Given the description of an element on the screen output the (x, y) to click on. 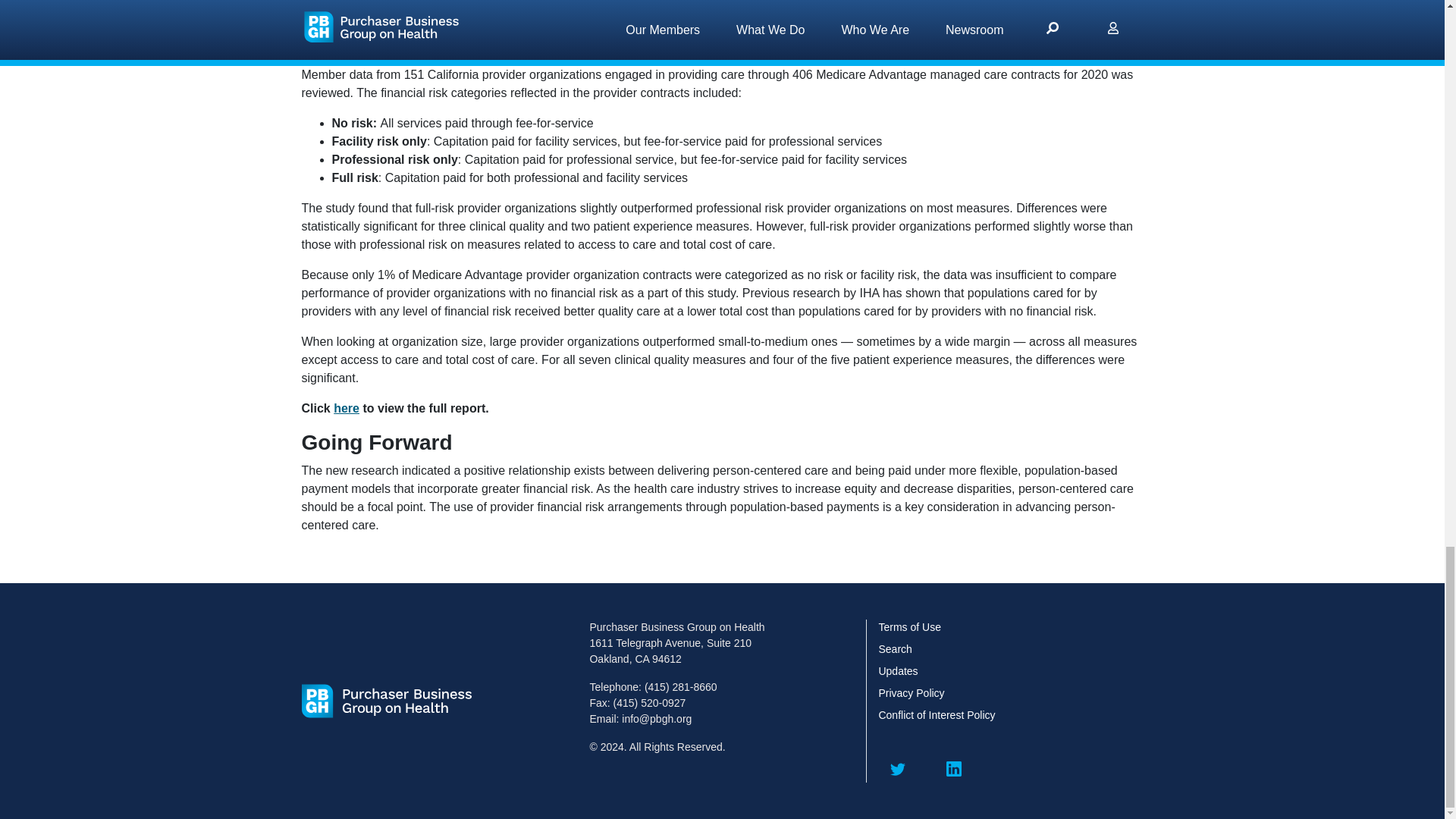
Follow on Linkedin (954, 771)
Follow on Twitter (899, 771)
